Given the description of an element on the screen output the (x, y) to click on. 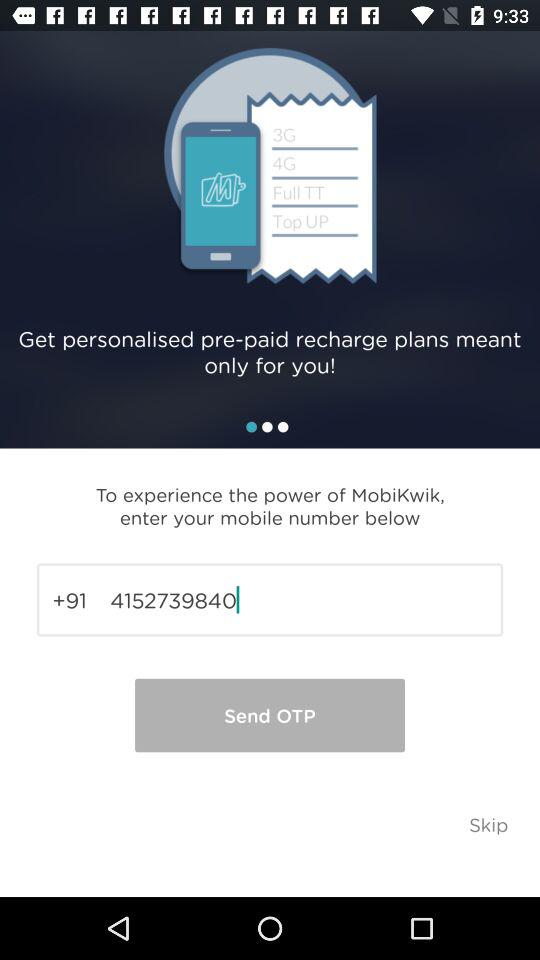
choose 4152739840 (269, 599)
